Given the description of an element on the screen output the (x, y) to click on. 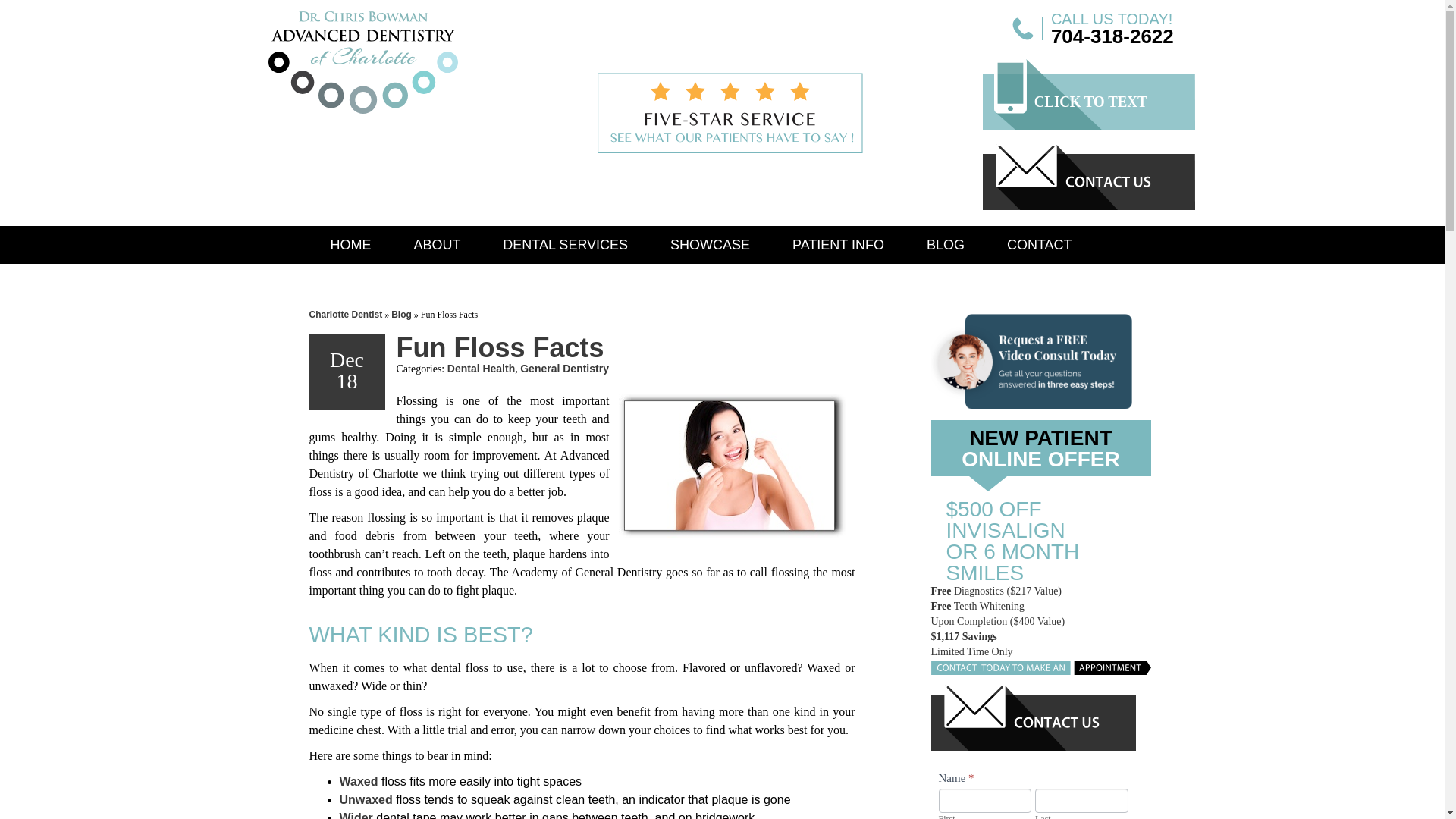
704-318-2622 (1112, 36)
HOME (350, 244)
ABOUT (436, 244)
DENTAL SERVICES (565, 244)
